Given the description of an element on the screen output the (x, y) to click on. 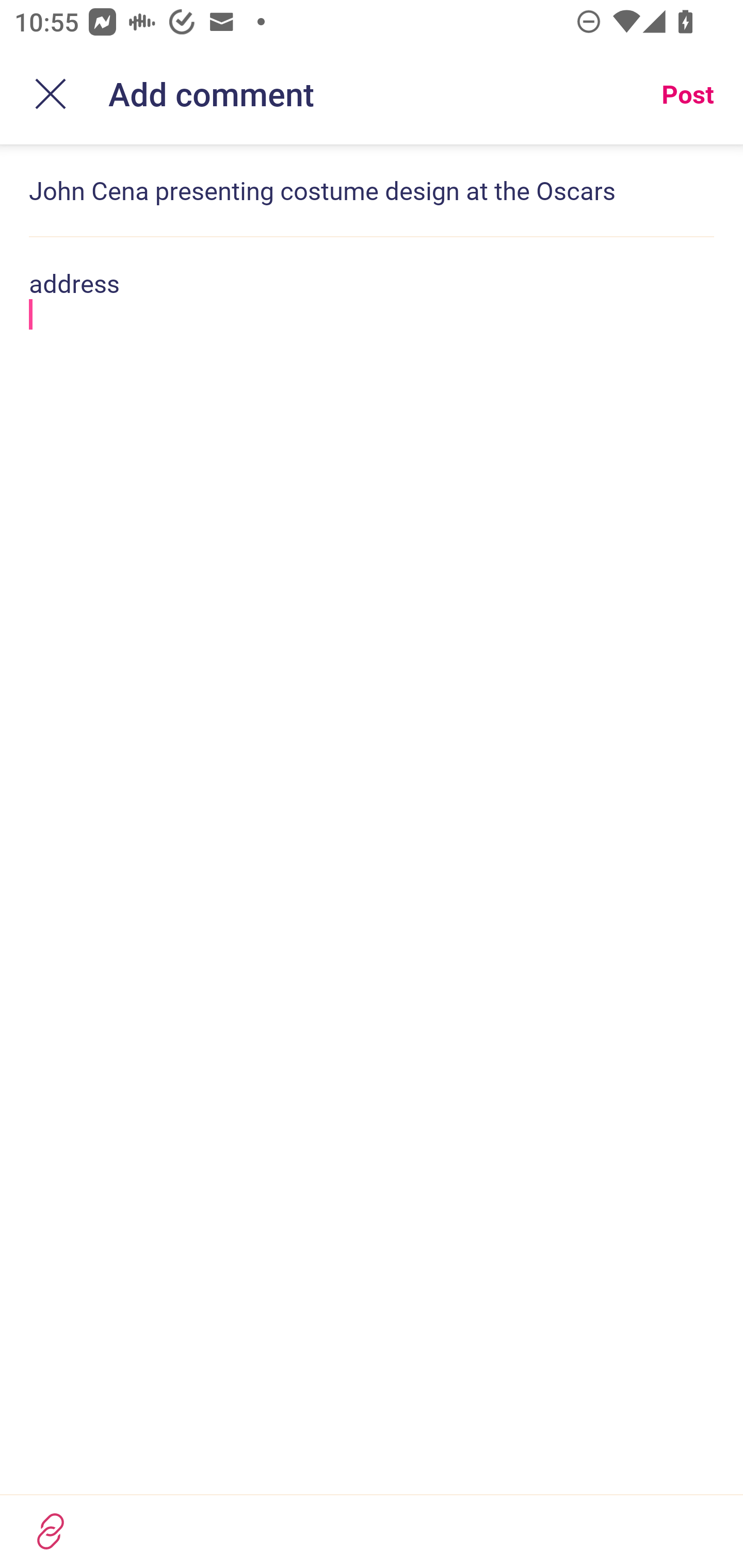
Close (50, 93)
Post (687, 94)
address
 (371, 297)
Insert a link (371, 1531)
Insert a link (50, 1530)
